Given the description of an element on the screen output the (x, y) to click on. 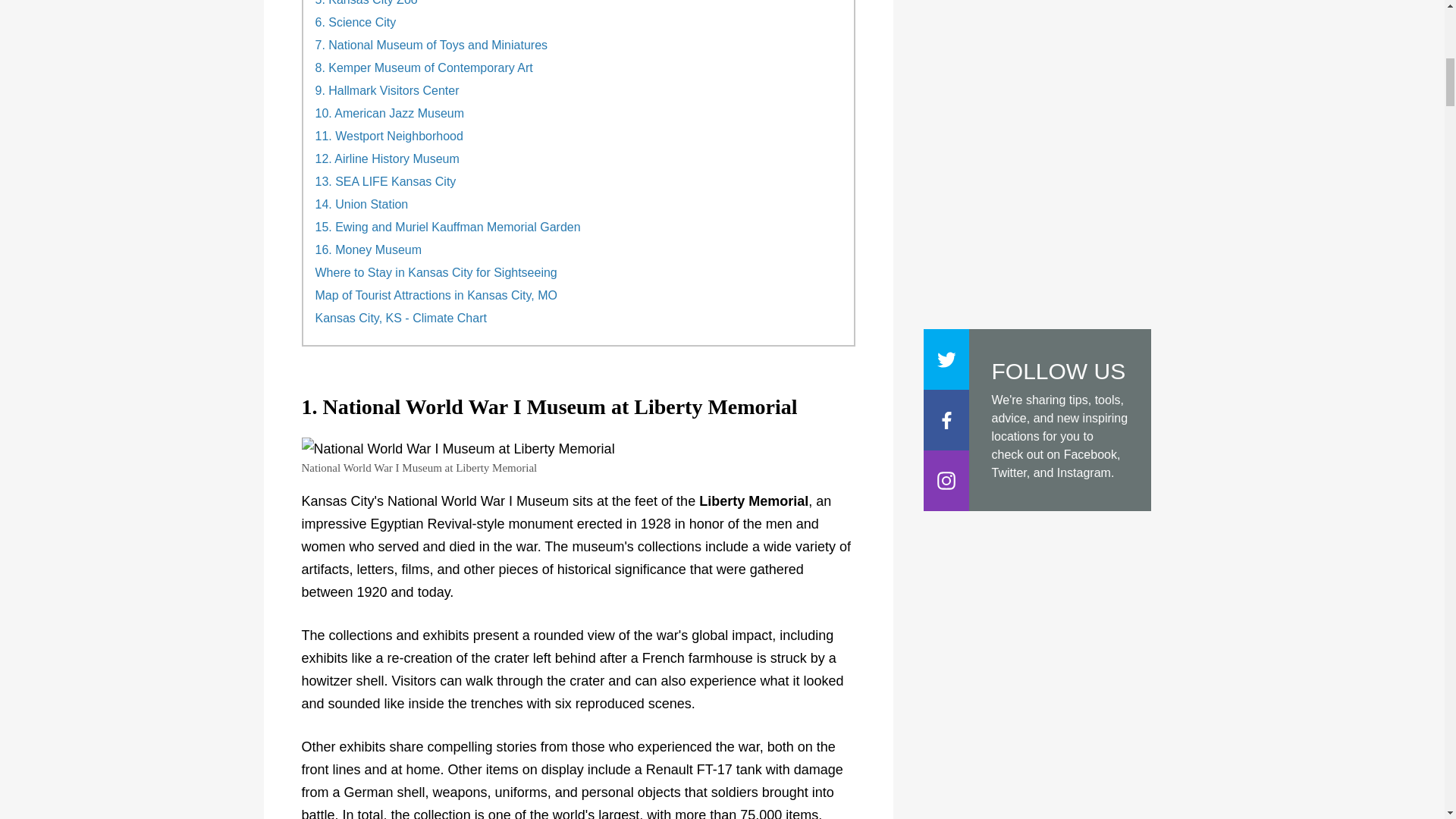
Map of Tourist Attractions in Kansas City, MO (436, 295)
15. Ewing and Muriel Kauffman Memorial Garden (447, 227)
12. Airline History Museum (387, 159)
14. Union Station (362, 204)
7. National Museum of Toys and Miniatures (431, 45)
10. American Jazz Museum (389, 113)
13. SEA LIFE Kansas City (386, 182)
11. Westport Neighborhood (389, 136)
Where to Stay in Kansas City for Sightseeing (436, 273)
8. Kemper Museum of Contemporary Art (423, 68)
5. Kansas City Zoo (366, 3)
16. Money Museum (368, 250)
9. Hallmark Visitors Center (387, 90)
Kansas City, KS - Climate Chart (400, 318)
6. Science City (355, 22)
